Given the description of an element on the screen output the (x, y) to click on. 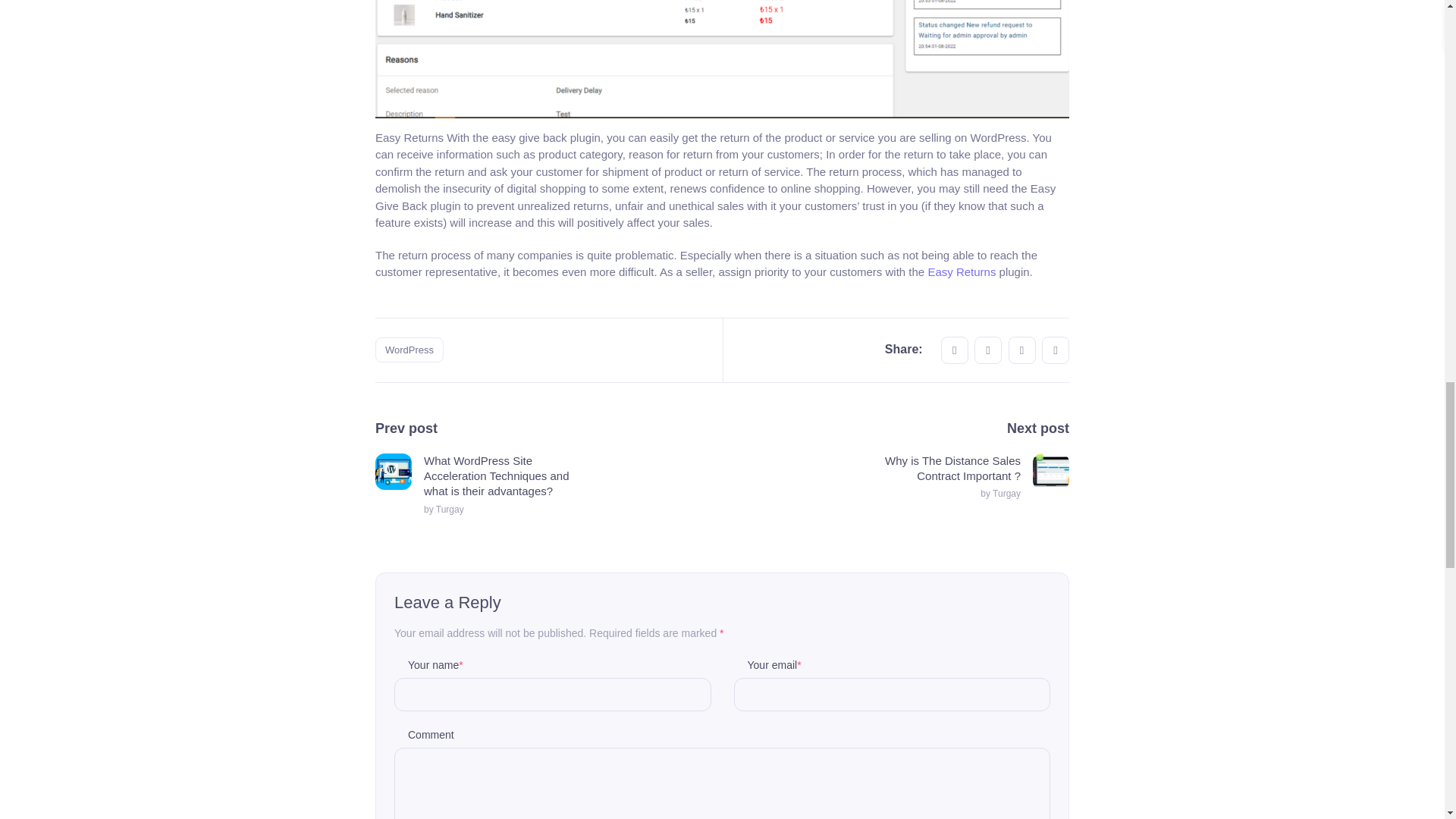
Easy Returns (961, 271)
WordPress (409, 350)
